Given the description of an element on the screen output the (x, y) to click on. 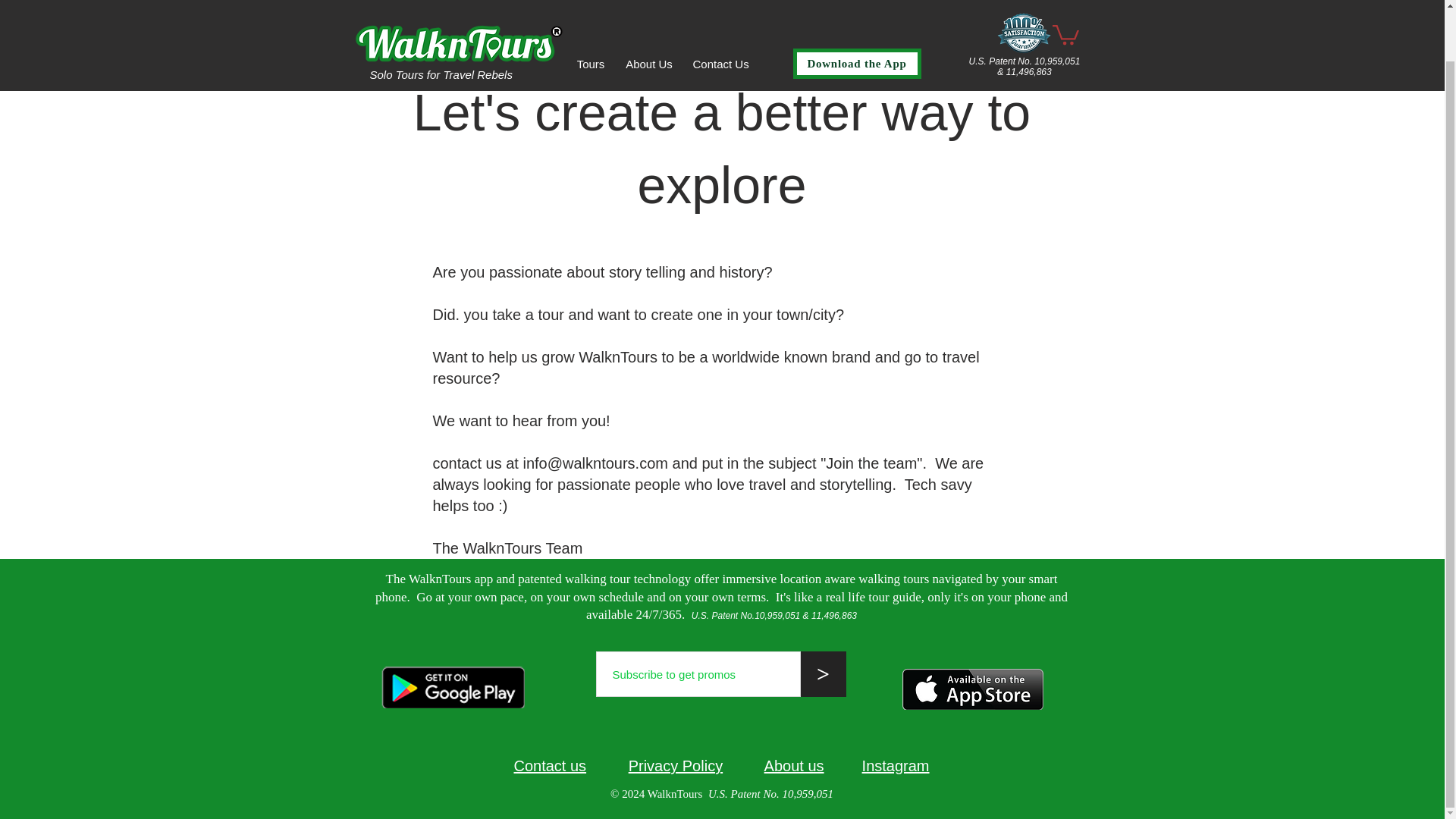
Contact us (549, 765)
Tours (590, 8)
Download the App (857, 11)
Instagram (895, 765)
Privacy Policy           (696, 765)
About us          (812, 765)
Contact Us (719, 8)
